Given the description of an element on the screen output the (x, y) to click on. 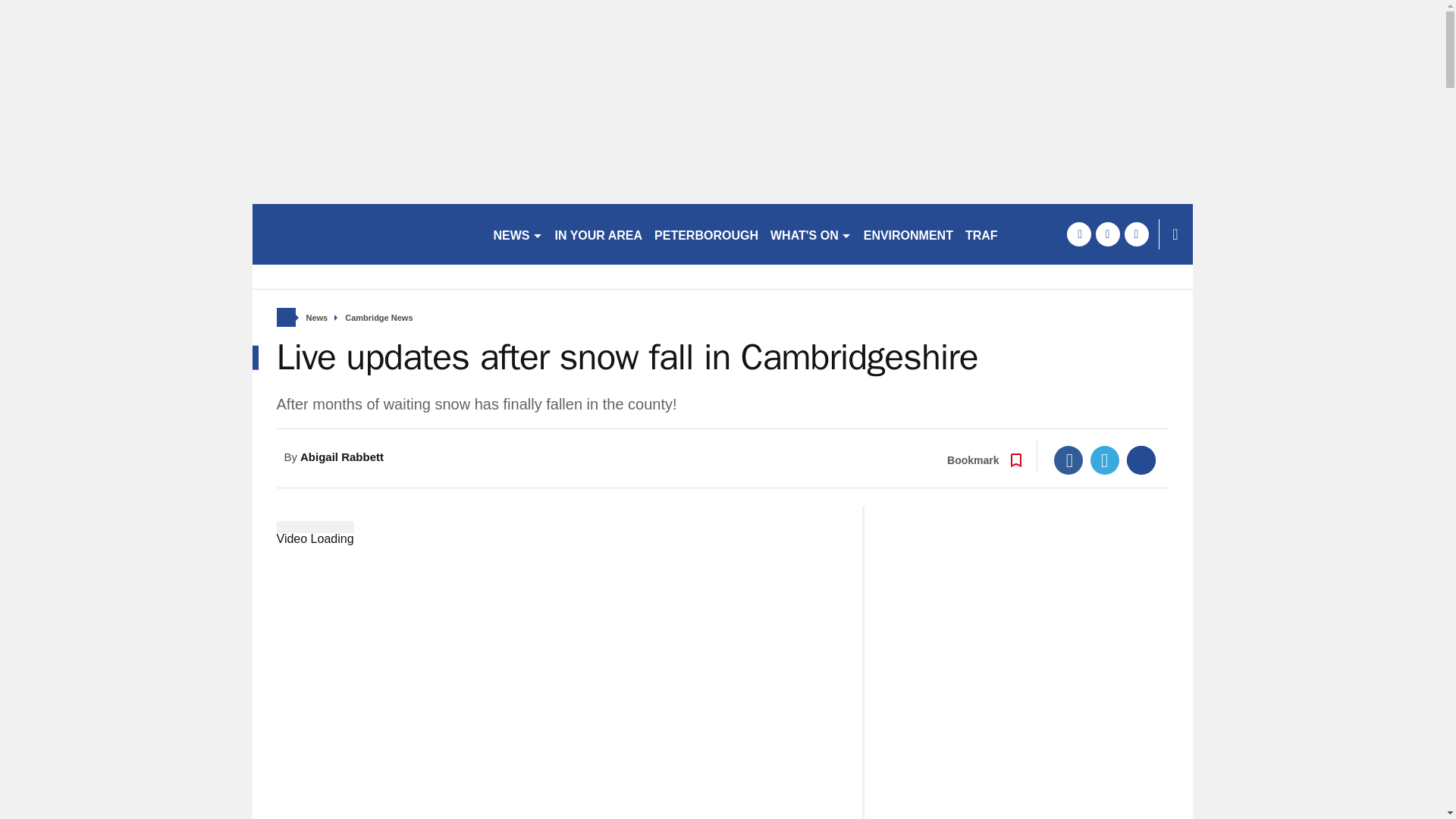
WHAT'S ON (810, 233)
Facebook (1068, 460)
cambridgenews (365, 233)
ENVIRONMENT (908, 233)
facebook (1077, 233)
NEWS (517, 233)
IN YOUR AREA (598, 233)
twitter (1106, 233)
Twitter (1104, 460)
PETERBOROUGH (705, 233)
instagram (1136, 233)
